Given the description of an element on the screen output the (x, y) to click on. 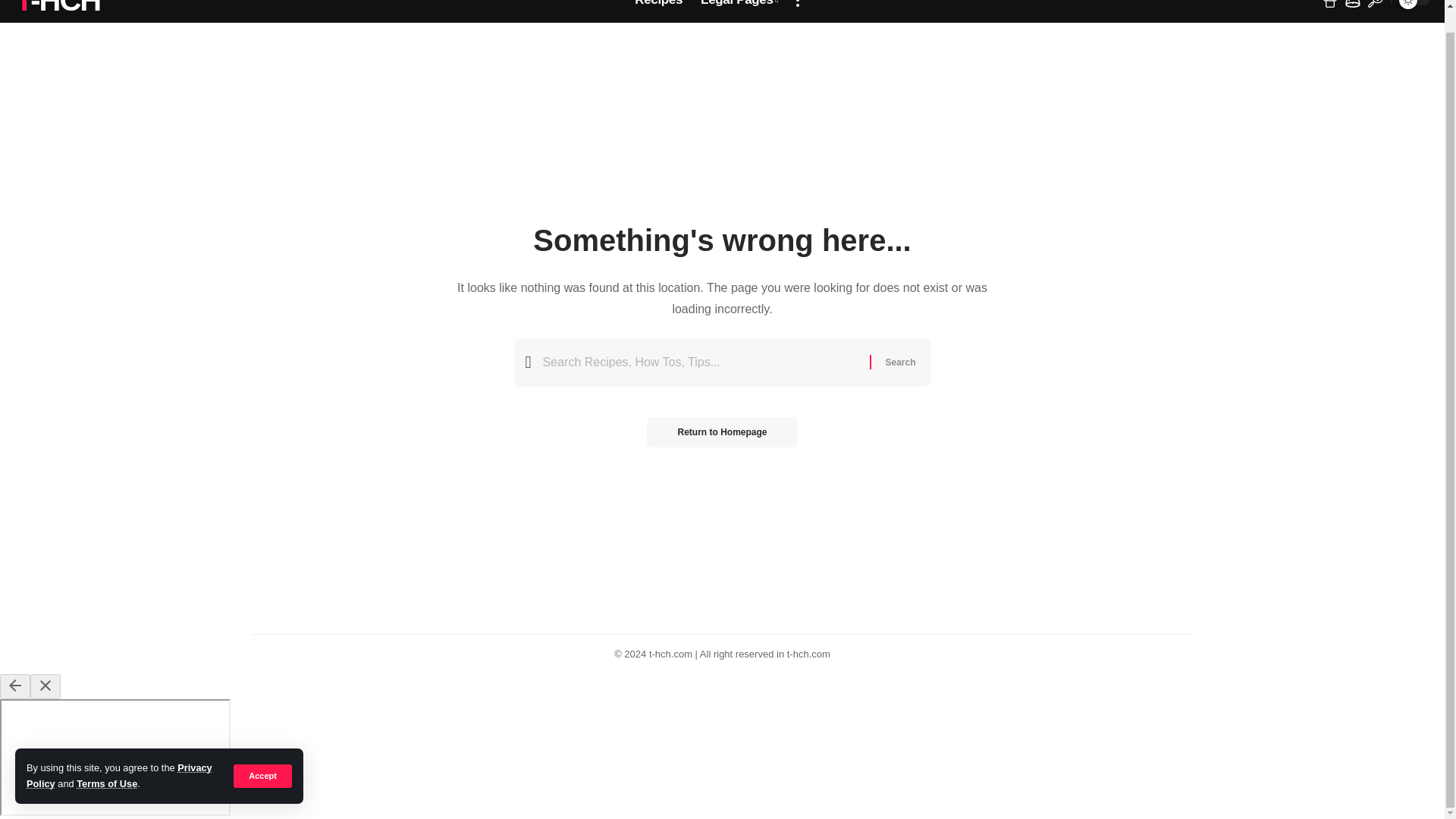
T-hch (57, 9)
Search (899, 362)
Privacy Policy (119, 752)
T-HCH (57, 9)
Terms of Use (106, 760)
Legal Pages (739, 11)
Accept (262, 753)
Recipes (658, 11)
